Given the description of an element on the screen output the (x, y) to click on. 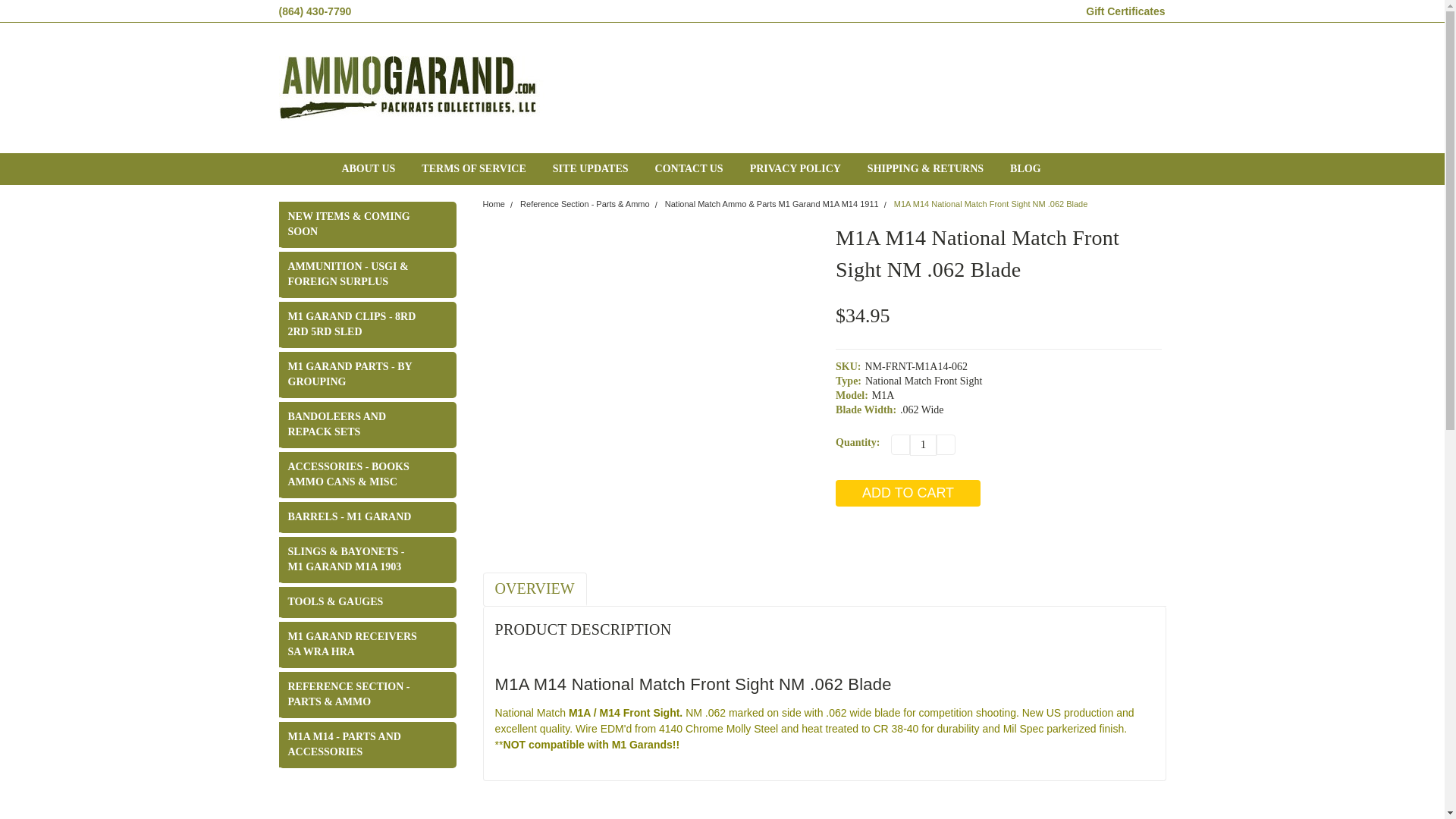
Gift Certificates (1125, 10)
Packrats Collectibles LLC (411, 88)
Add to Cart (907, 492)
1 (923, 444)
